Given the description of an element on the screen output the (x, y) to click on. 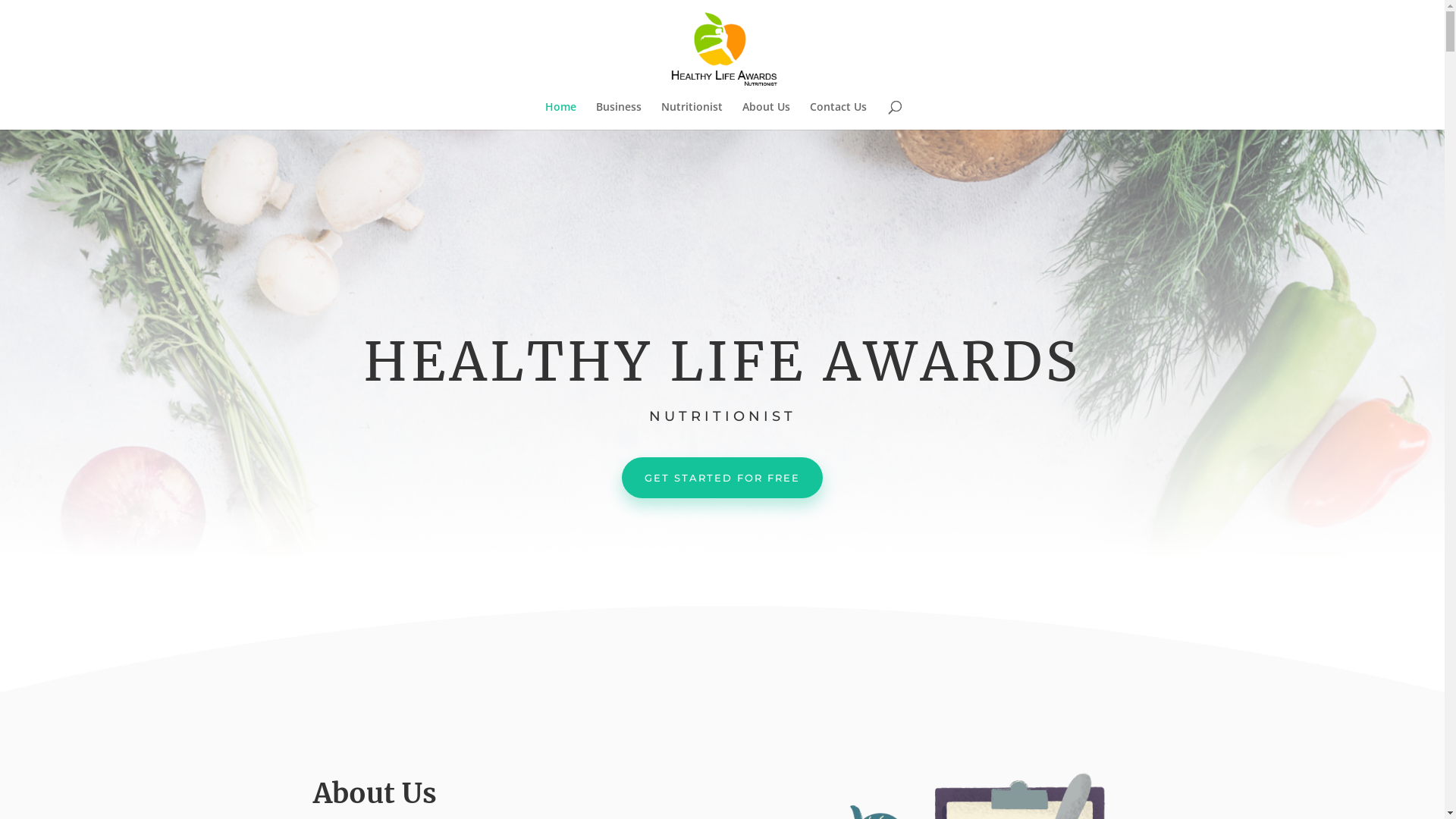
About Us Element type: text (765, 115)
Business Element type: text (618, 115)
GET STARTED FOR FREE Element type: text (721, 477)
Nutritionist Element type: text (691, 115)
Home Element type: text (559, 115)
Contact Us Element type: text (837, 115)
